Given the description of an element on the screen output the (x, y) to click on. 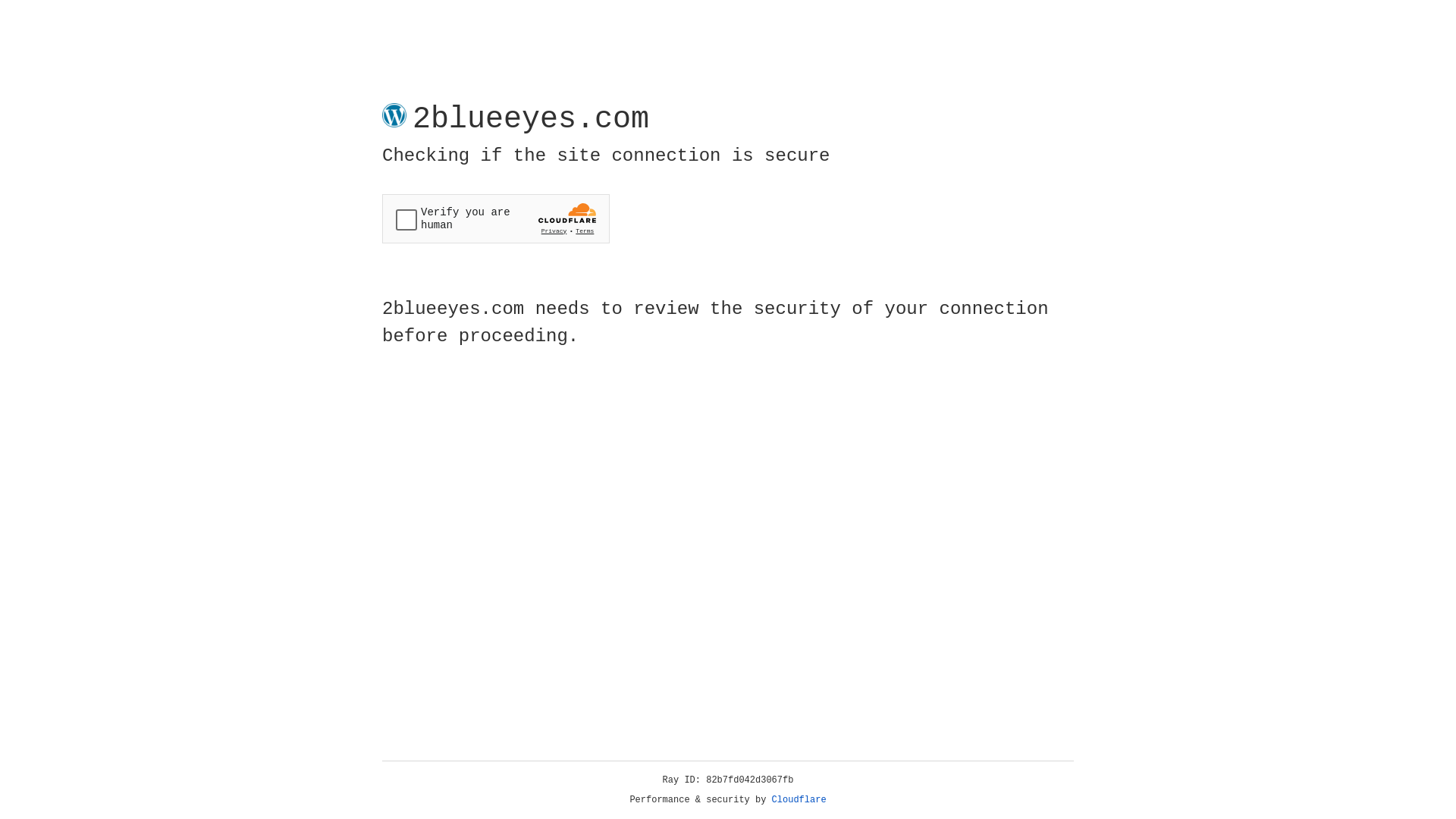
Cloudflare Element type: text (798, 799)
Widget containing a Cloudflare security challenge Element type: hover (495, 218)
